Given the description of an element on the screen output the (x, y) to click on. 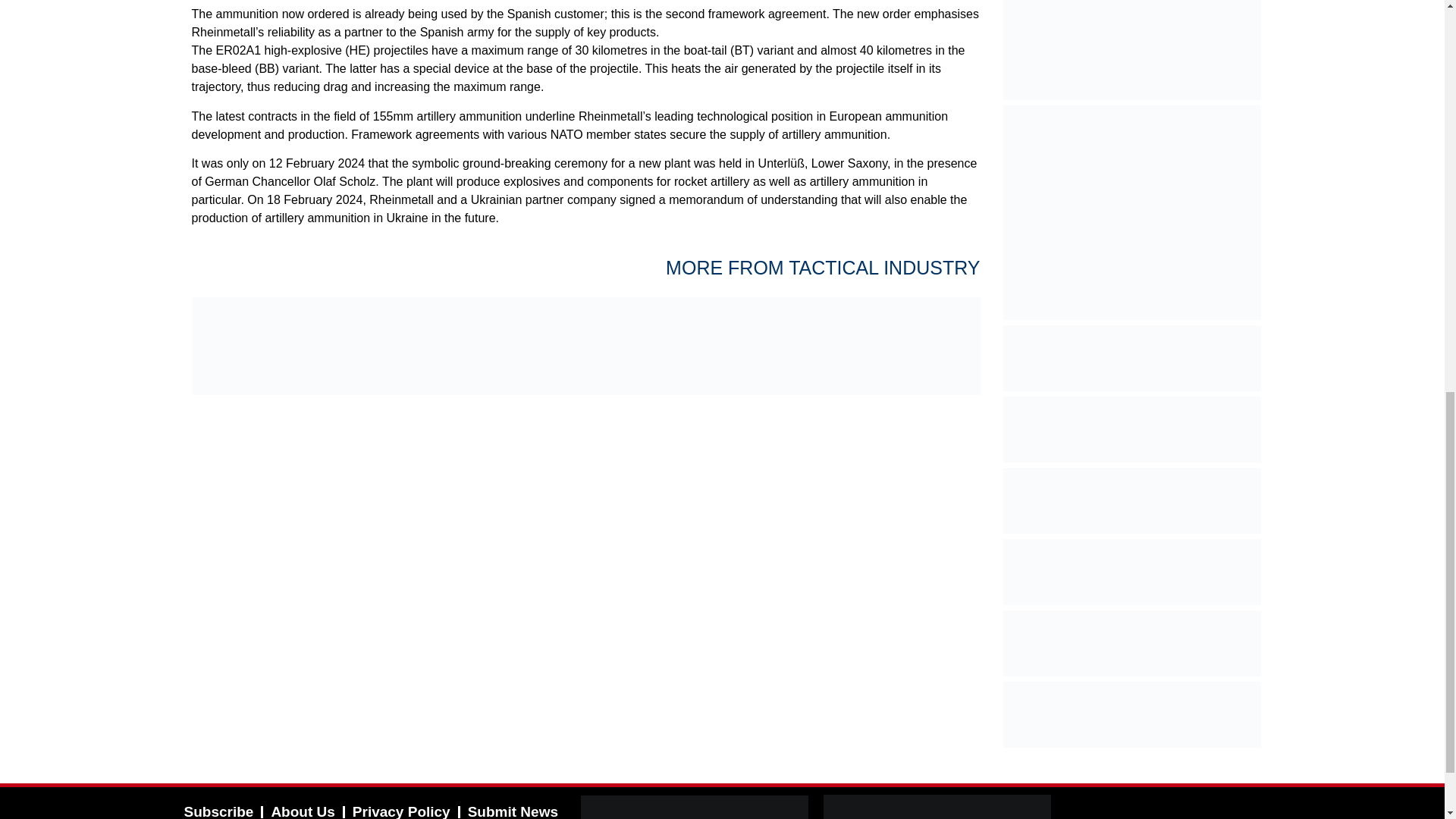
Submit News (513, 806)
TACTICAL INDUSTRY (884, 267)
Privacy Policy (401, 806)
About Us (302, 806)
Subscribe (218, 806)
